Given the description of an element on the screen output the (x, y) to click on. 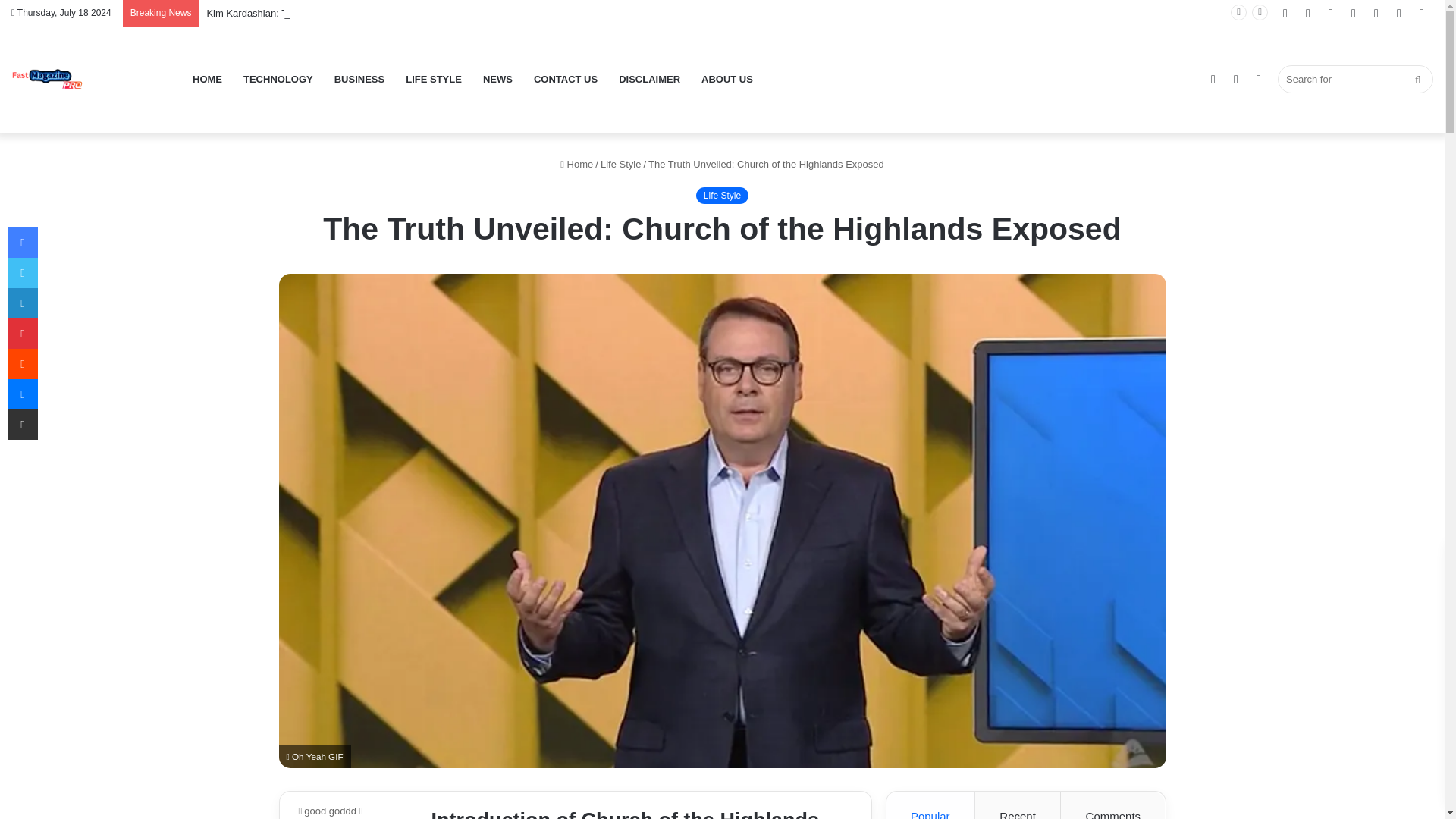
Life Style (619, 163)
Random Article (1398, 13)
Log In (1376, 13)
Switch skin (1258, 79)
Random Article (1213, 79)
LIFE STYLE (432, 79)
good goddd (327, 810)
ABOUT US (726, 79)
Search for (1355, 79)
Search for (1417, 79)
Send an email (360, 810)
TECHNOLOGY (277, 79)
DISCLAIMER (649, 79)
good goddd (327, 810)
Switch skin (1258, 79)
